Given the description of an element on the screen output the (x, y) to click on. 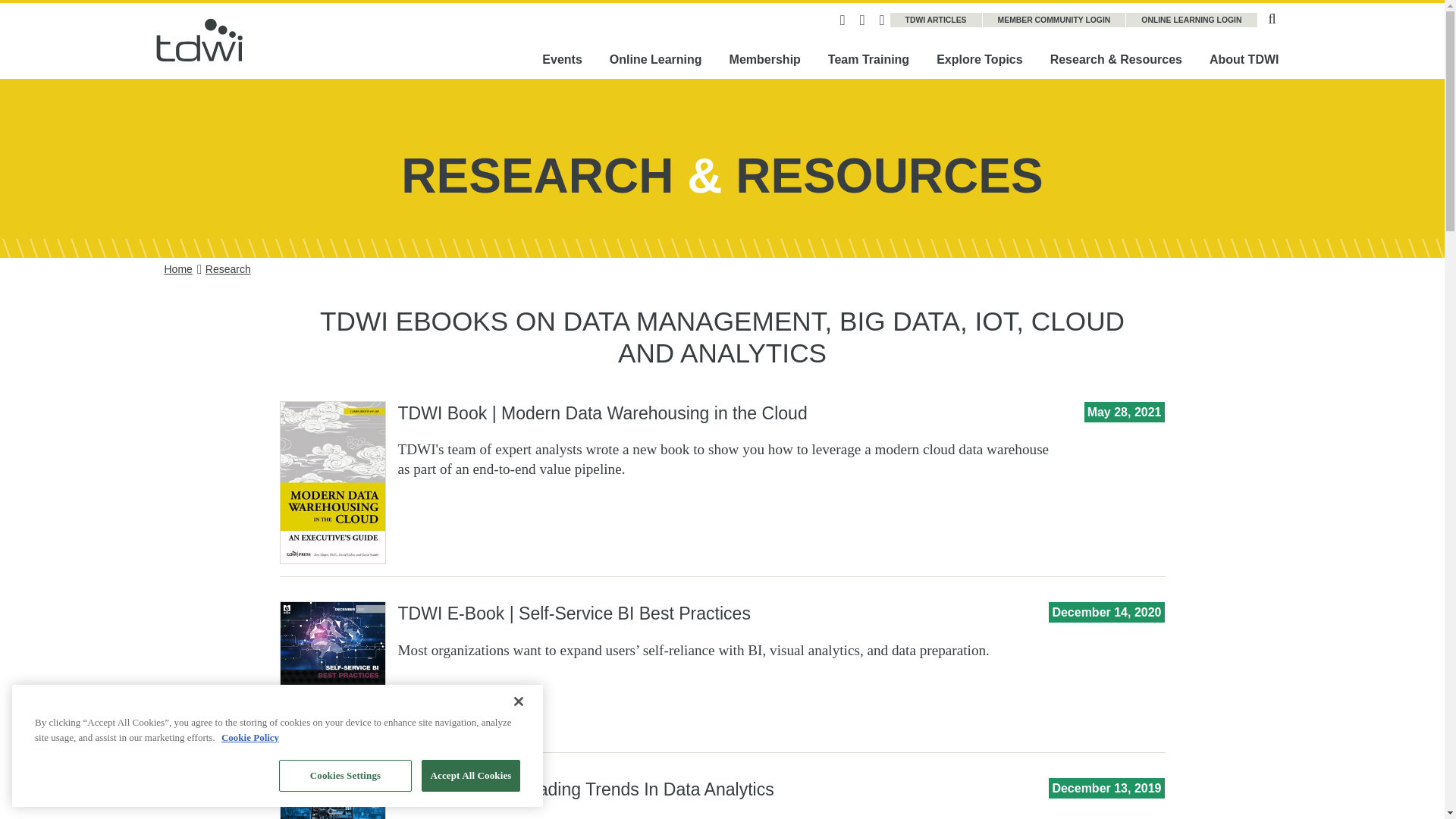
Online Learning (655, 59)
ONLINE LEARNING LOGIN (1191, 20)
TDWI ARTICLES (935, 20)
Membership (764, 59)
Search (1272, 16)
Events (561, 59)
Explore Topics (979, 59)
Team Training (868, 59)
MEMBER COMMUNITY LOGIN (1054, 20)
